Given the description of an element on the screen output the (x, y) to click on. 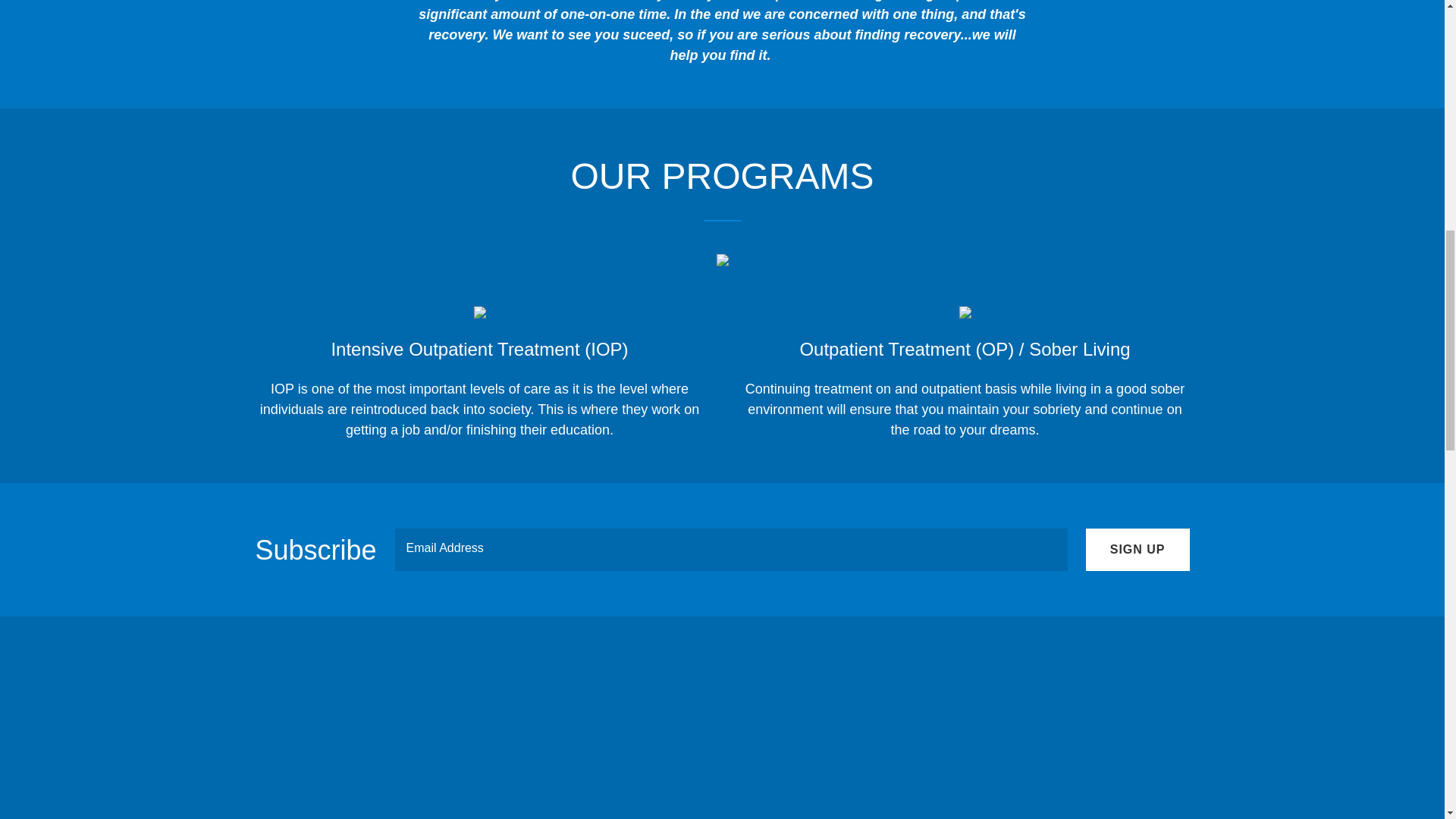
SIGN UP (1137, 549)
